Given the description of an element on the screen output the (x, y) to click on. 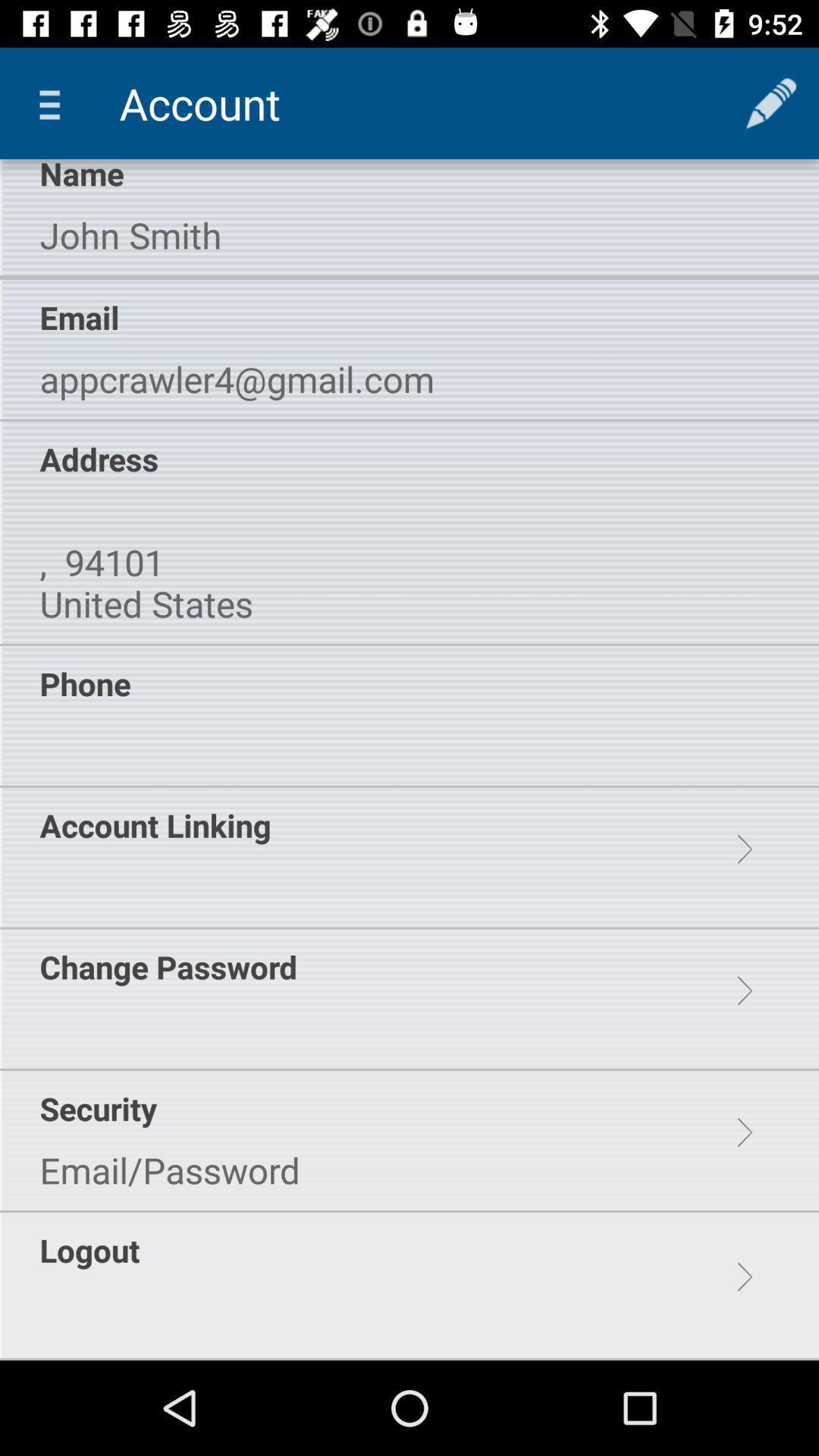
choose the item above the name icon (55, 103)
